Given the description of an element on the screen output the (x, y) to click on. 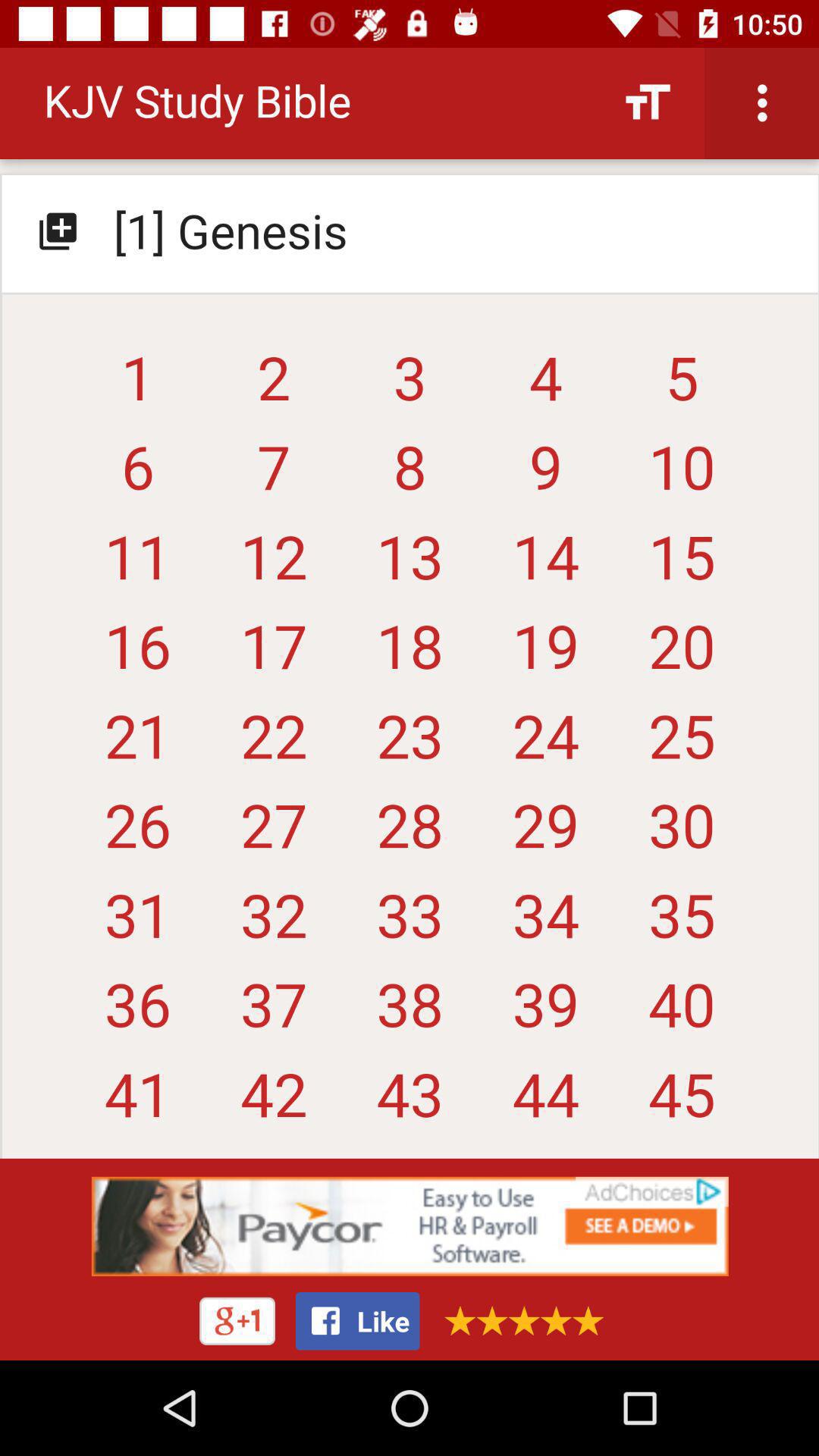
main page (409, 609)
